Given the description of an element on the screen output the (x, y) to click on. 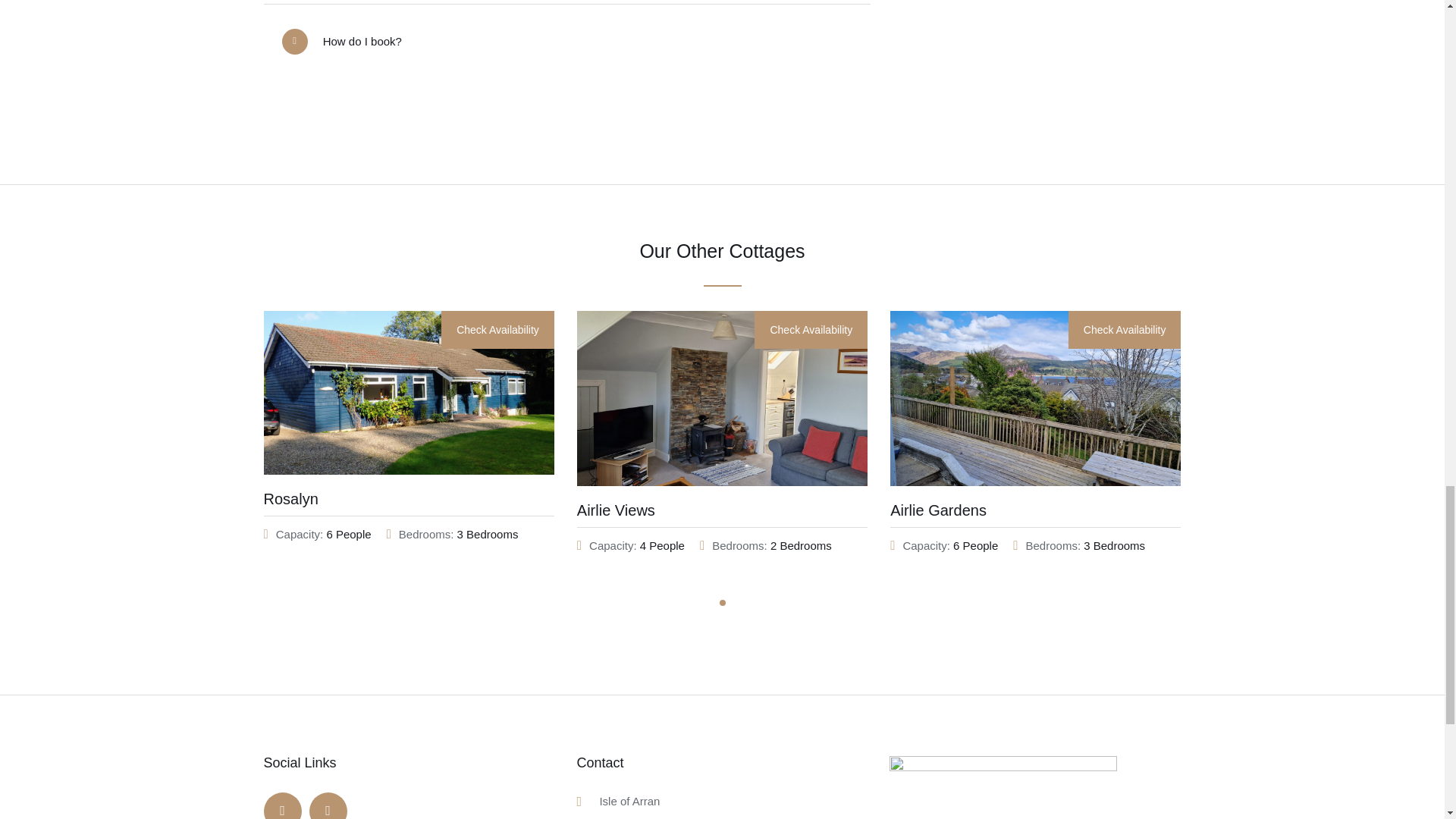
Airlie Gardens (938, 510)
Airlie Views (615, 510)
Rosalyn (290, 498)
